Given the description of an element on the screen output the (x, y) to click on. 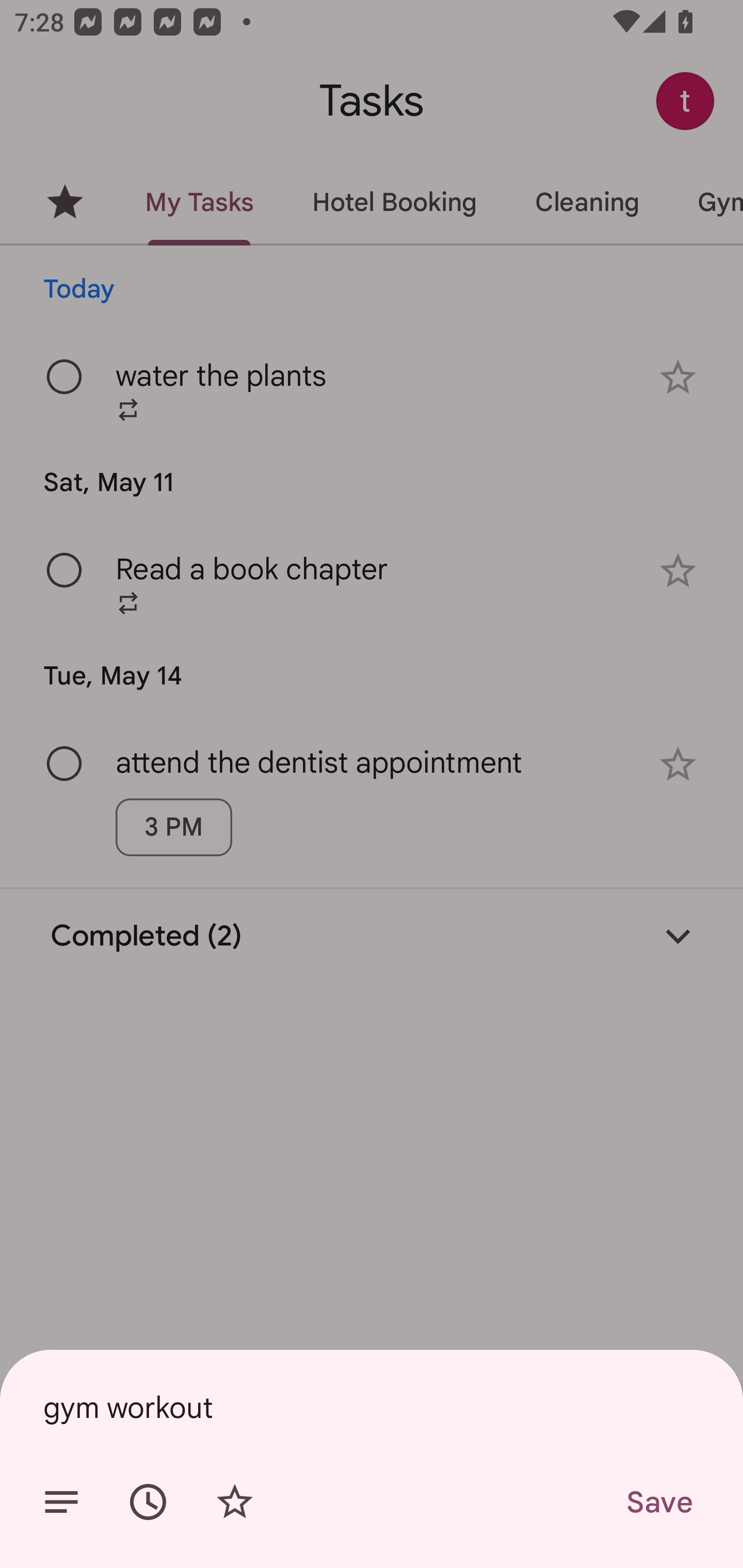
gym workout (371, 1407)
Save (659, 1501)
Add details (60, 1501)
Set date/time (147, 1501)
Add star (234, 1501)
